Given the description of an element on the screen output the (x, y) to click on. 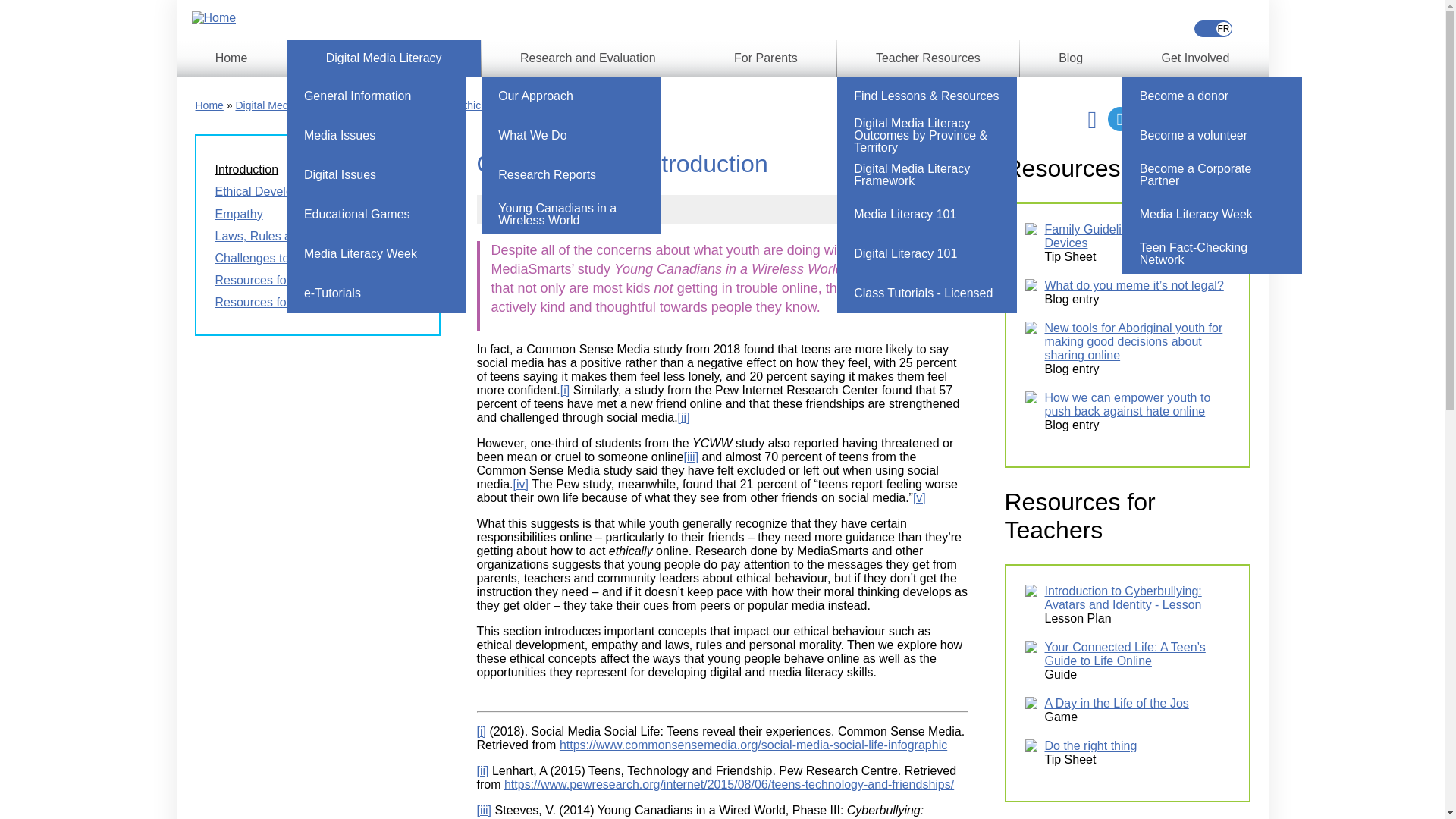
Become a donor (1211, 96)
YouTube (1146, 119)
Class Tutorials - Licensed (926, 292)
Become a Corporate Partner (1211, 174)
Instagram (1175, 119)
Digital Issues (375, 174)
Media Literacy 101 (926, 214)
Media Issues (375, 135)
Young Canadians in a Wireless World (571, 214)
Twitter (1120, 119)
